Given the description of an element on the screen output the (x, y) to click on. 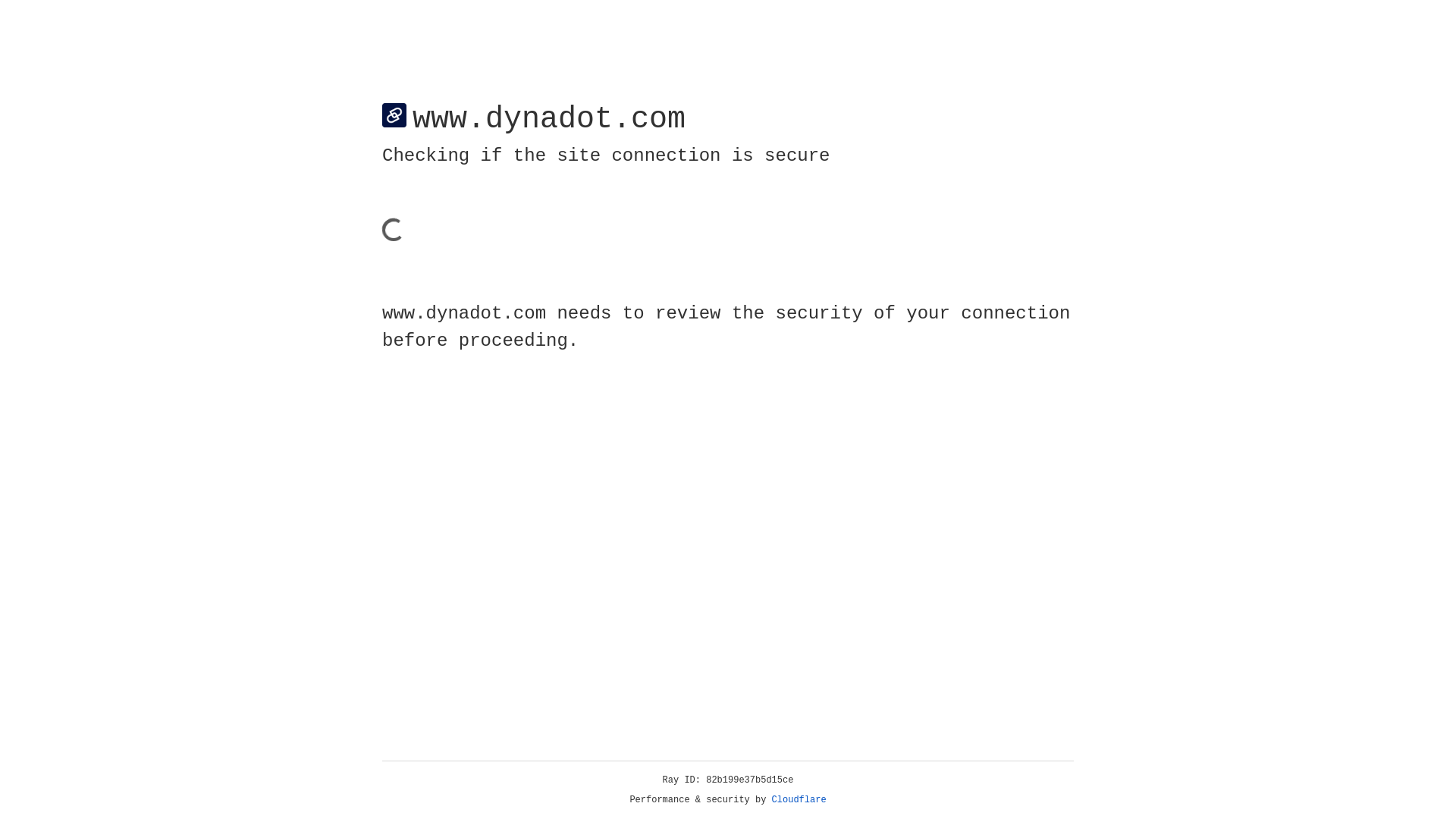
Cloudflare Element type: text (798, 799)
